Given the description of an element on the screen output the (x, y) to click on. 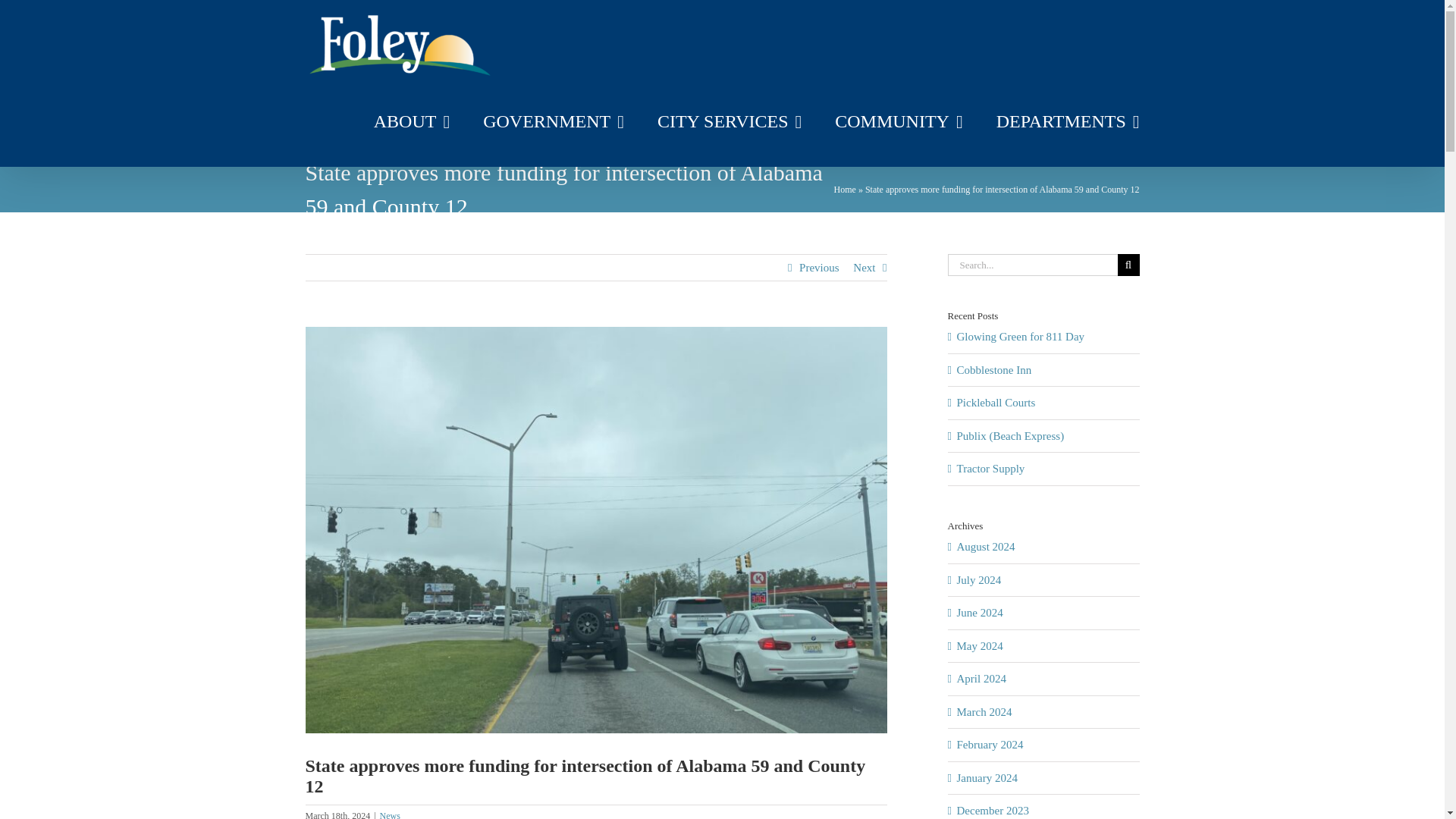
COMMUNITY (898, 120)
ABOUT (411, 120)
GOVERNMENT (553, 120)
CITY SERVICES (730, 120)
